Given the description of an element on the screen output the (x, y) to click on. 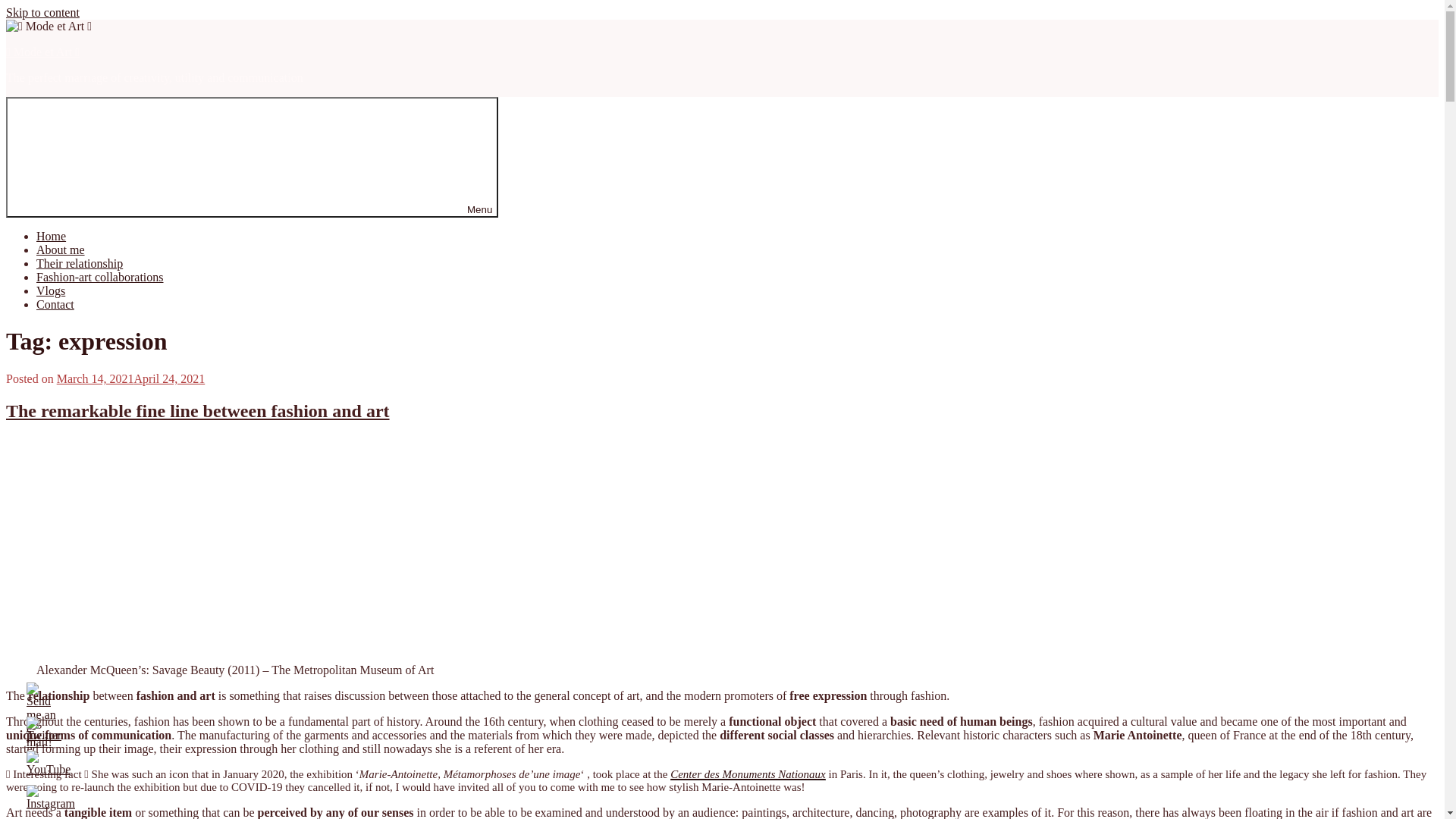
Send me an e-mail! Element type: hover (41, 715)
Fashion-art collaborations Element type: text (99, 276)
Home Element type: text (50, 235)
Their relationship Element type: text (79, 263)
Twitter Element type: hover (43, 729)
Menu Element type: text (252, 157)
The remarkable fine line between fashion and art Element type: text (197, 410)
Vlogs Element type: text (50, 290)
Skip to content Element type: text (42, 12)
Alexander McQueen: Savage Beauty - Gallery Views 2011 Element type: hover (235, 548)
Instagram Element type: hover (50, 797)
Contact Element type: text (55, 304)
March 14, 2021April 24, 2021 Element type: text (130, 378)
YouTube Element type: hover (48, 763)
About me Element type: text (60, 249)
Center des Monuments Nationaux Element type: text (747, 774)
